Given the description of an element on the screen output the (x, y) to click on. 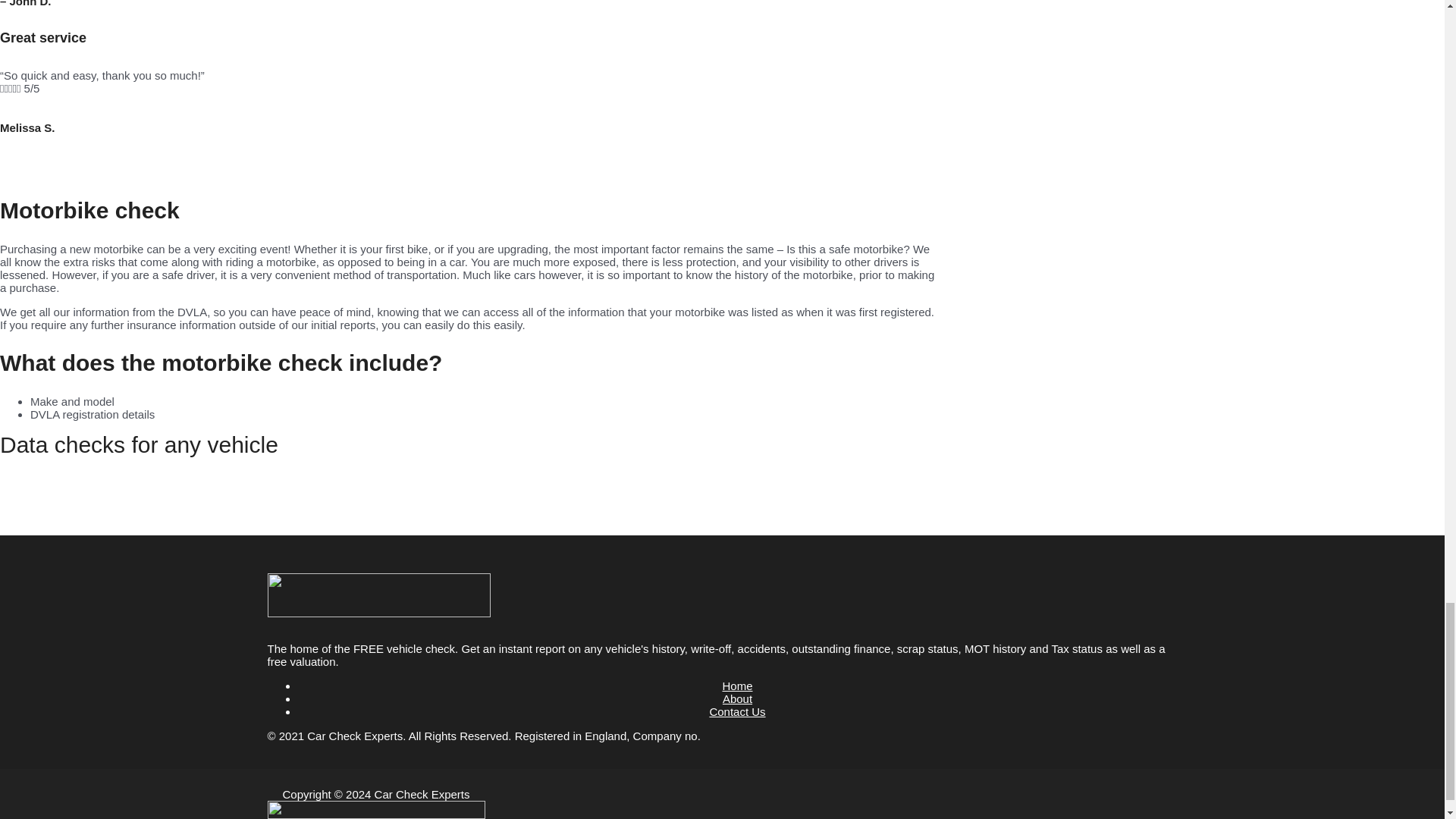
Contact Us (737, 711)
About (737, 698)
Home (737, 685)
